Given the description of an element on the screen output the (x, y) to click on. 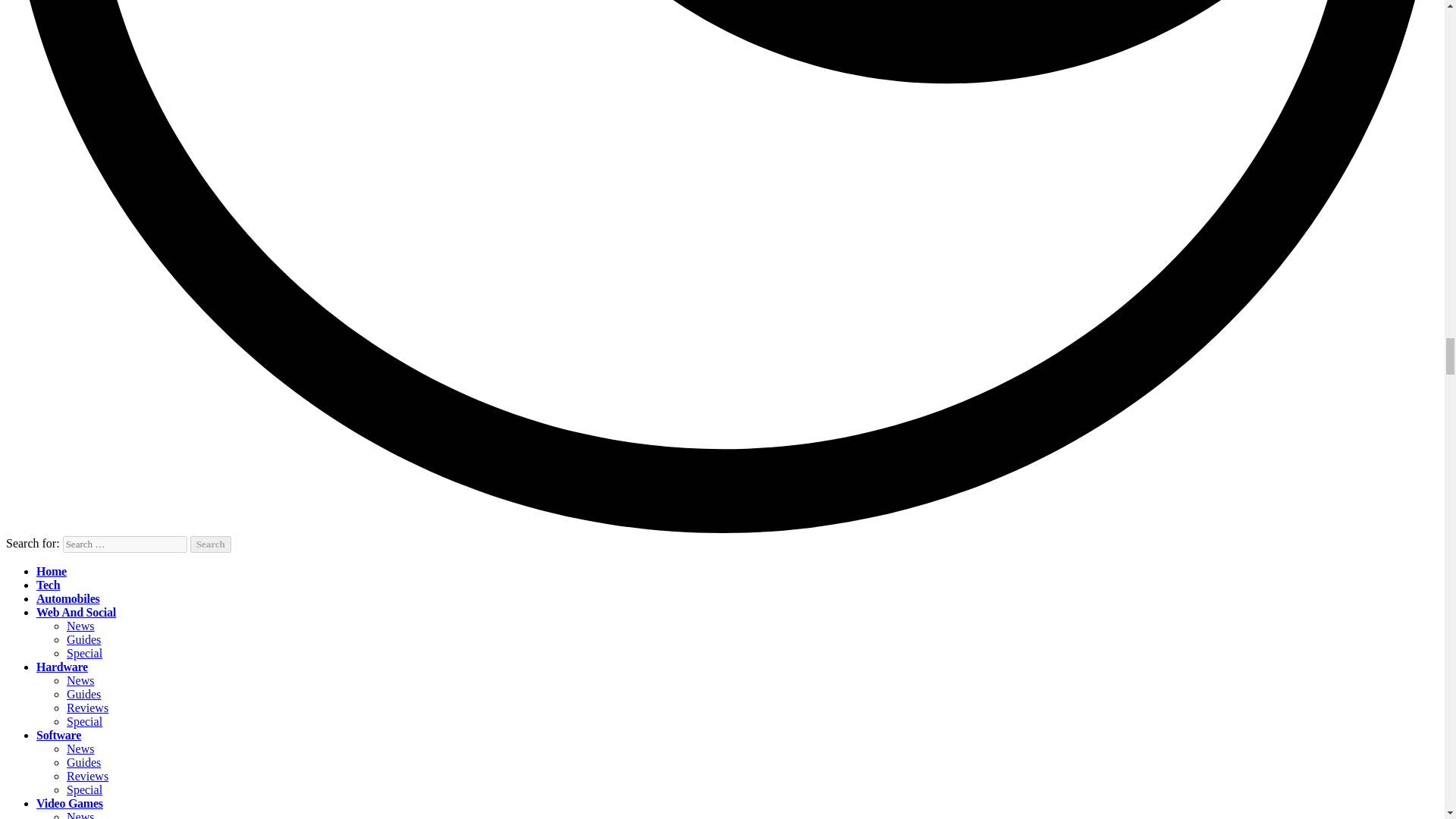
Search (210, 544)
Search (210, 544)
